Given the description of an element on the screen output the (x, y) to click on. 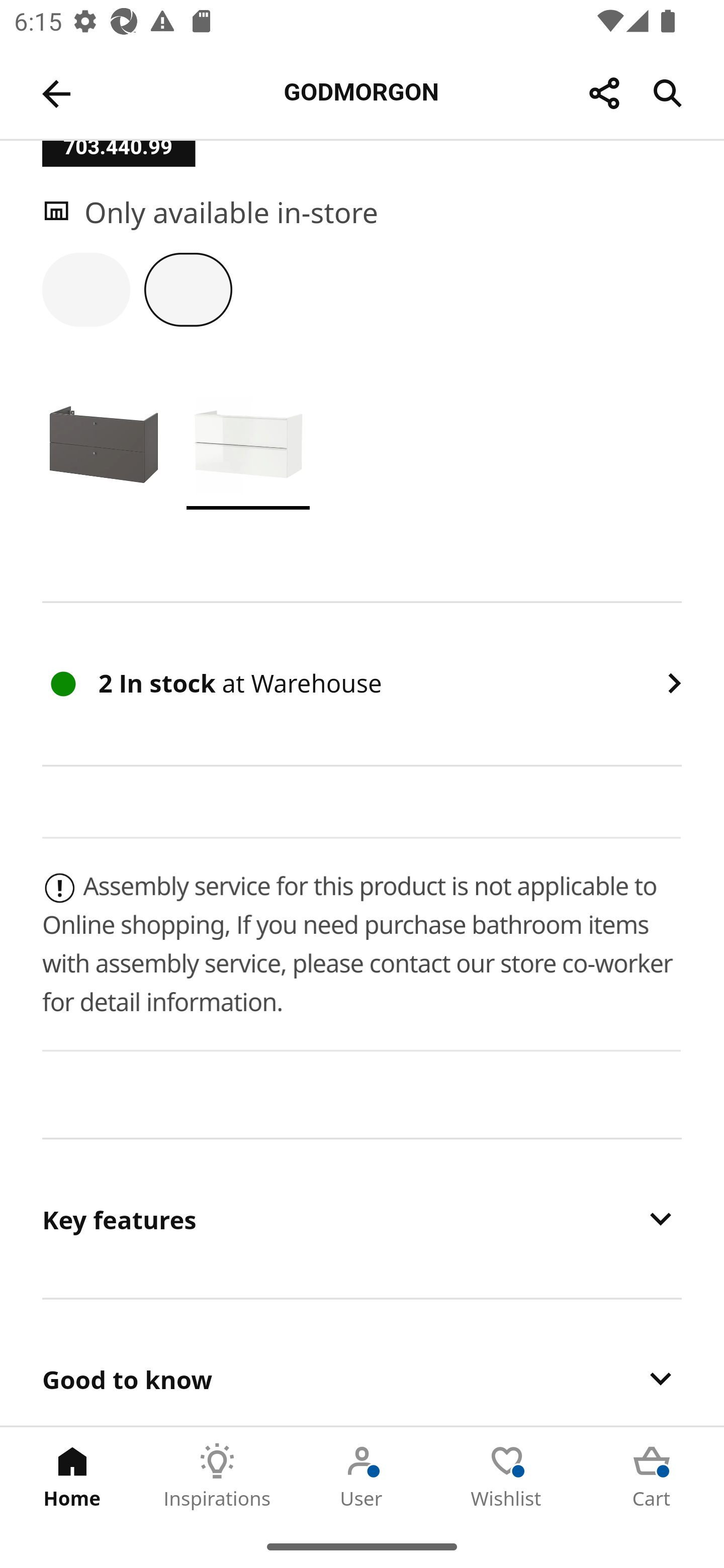
2 In stock at Warehouse (361, 684)
Key features (361, 1218)
Good to know (361, 1363)
Home
Tab 1 of 5 (72, 1476)
Inspirations
Tab 2 of 5 (216, 1476)
User
Tab 3 of 5 (361, 1476)
Wishlist
Tab 4 of 5 (506, 1476)
Cart
Tab 5 of 5 (651, 1476)
